Given the description of an element on the screen output the (x, y) to click on. 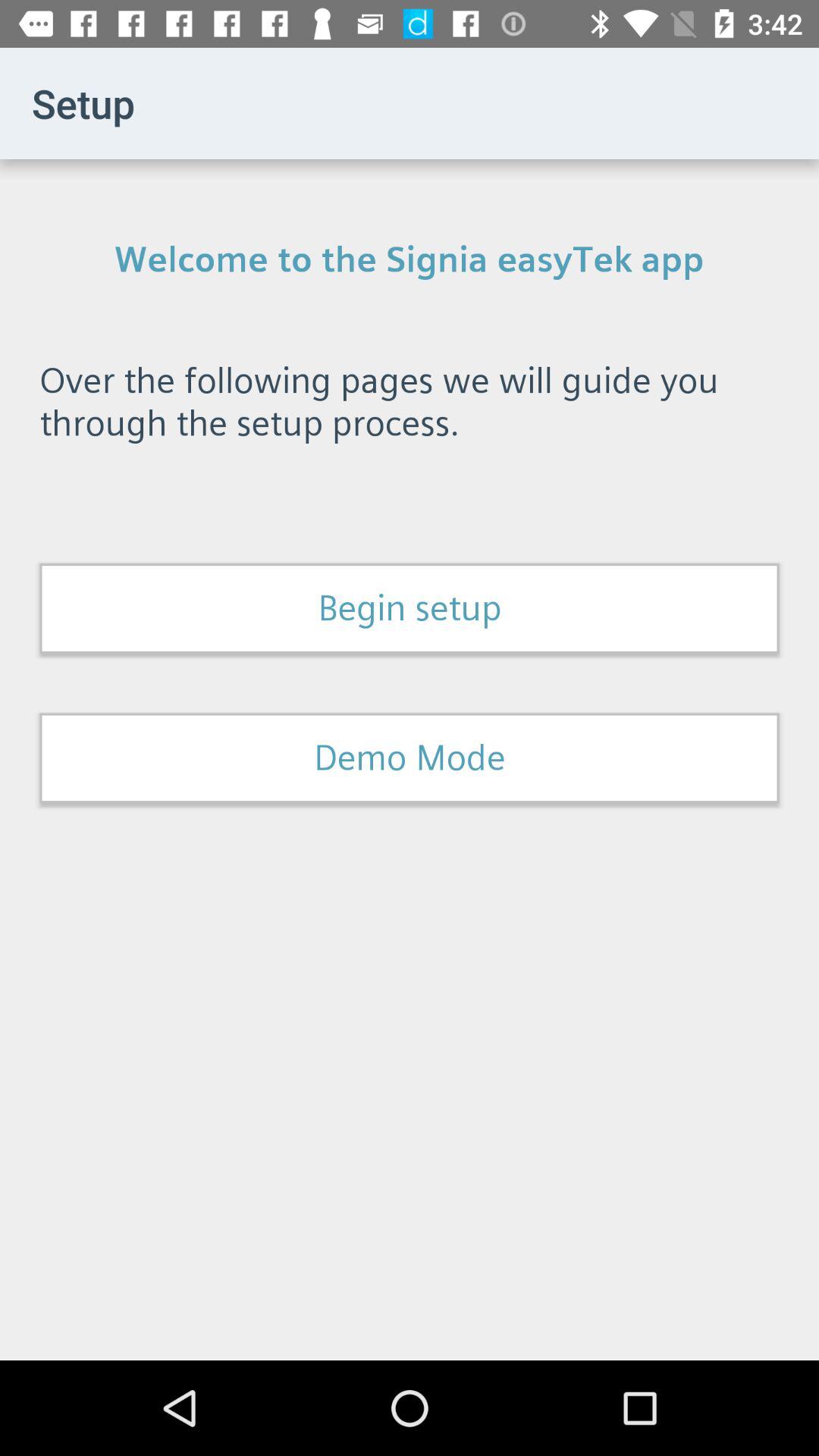
tap demo mode (409, 758)
